Given the description of an element on the screen output the (x, y) to click on. 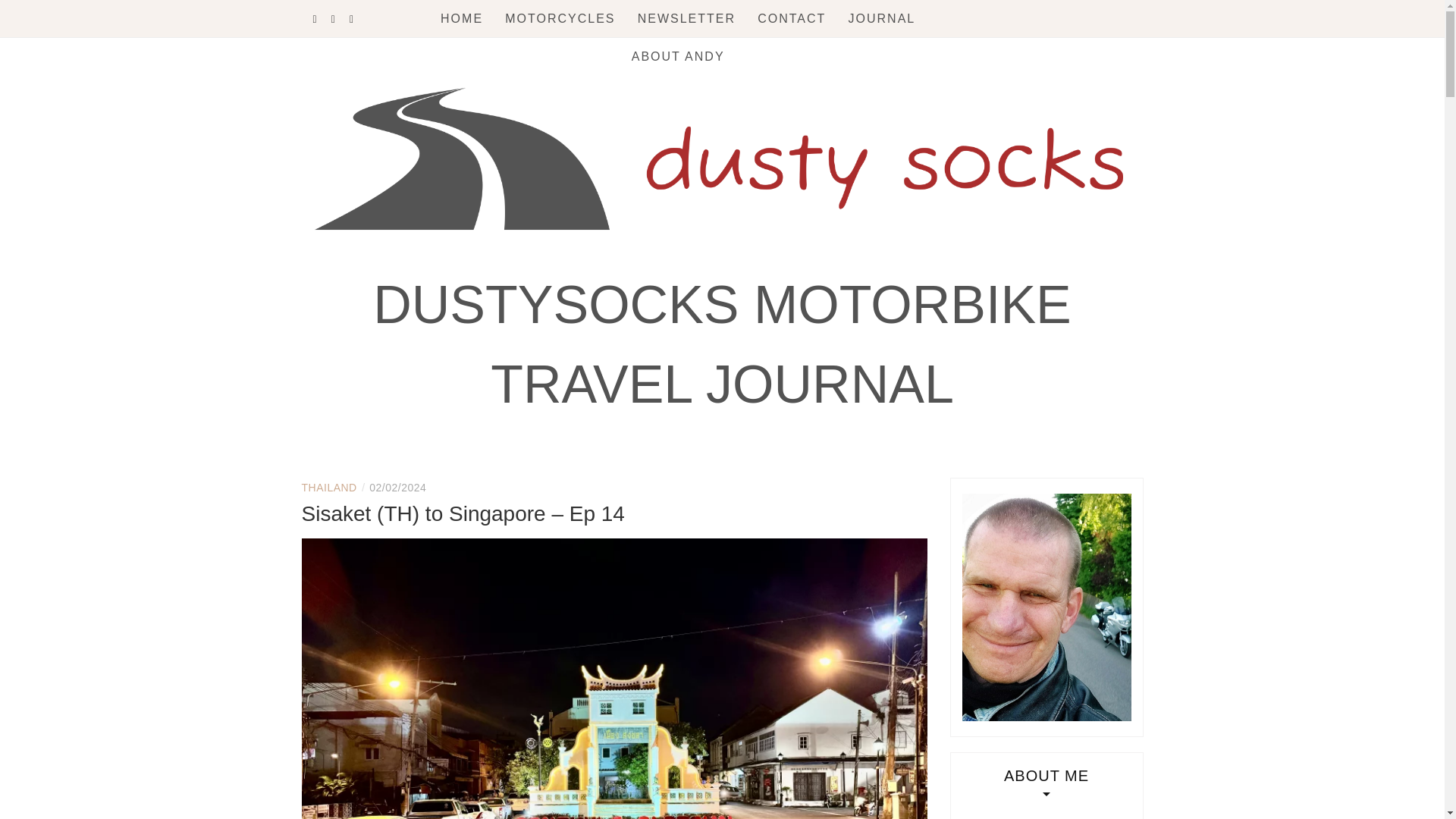
HOME (462, 18)
THAILAND (328, 487)
JOURNAL (881, 18)
MOTORCYCLES (559, 18)
DUSTYSOCKS MOTORBIKE TRAVEL JOURNAL (721, 344)
NEWSLETTER (686, 18)
CONTACT (791, 18)
ABOUT ANDY (678, 56)
